Given the description of an element on the screen output the (x, y) to click on. 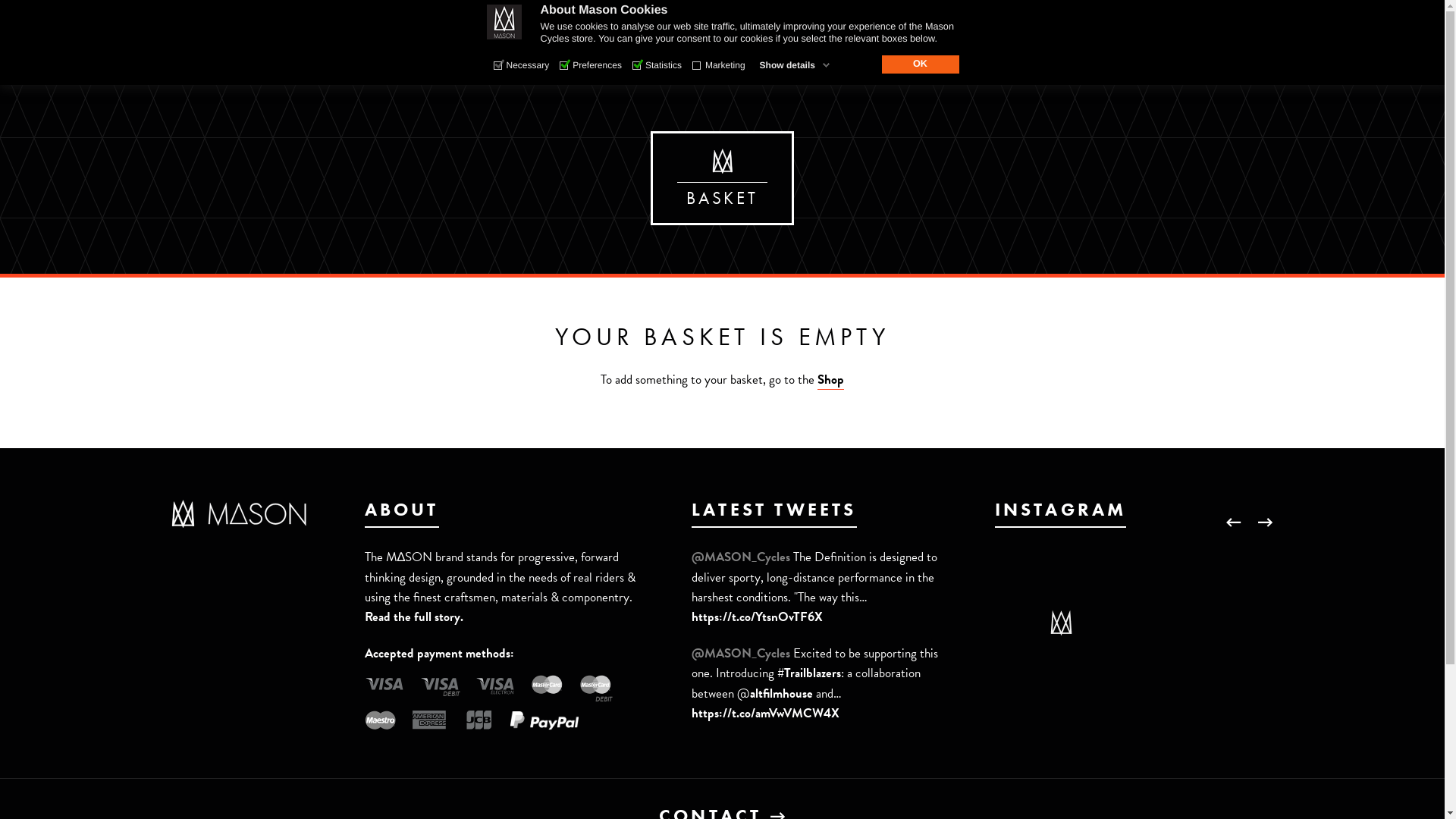
Shop Element type: text (830, 379)
@MASON_Cycles Element type: text (742, 556)
#Trailblazers Element type: text (808, 672)
ALL Element type: text (391, 65)
INSEARCHOF Element type: text (748, 65)
ALL Element type: text (583, 65)
https://t.co/YtsnOvTF6X Element type: text (756, 616)
CONTACT Element type: text (998, 55)
EXPOSURE Element type: text (1032, 65)
REVIEWS Element type: text (834, 55)
WARRANTY Element type: text (968, 14)
Read the full story. Element type: text (413, 616)
BLOG Element type: text (915, 55)
altfilmhouse Element type: text (780, 693)
ACCESSORIES Element type: text (723, 55)
BOKEH Element type: text (659, 65)
FAQS Element type: text (885, 14)
@MASON_Cycles Element type: text (742, 652)
SLR Element type: text (959, 65)
CLOTHING Element type: text (841, 65)
RESOLUTION Element type: text (470, 65)
DEFINITION Element type: text (573, 65)
ASPECT Element type: text (838, 65)
BASKET Element type: text (1088, 55)
BICYCLES & FRAMES Element type: text (574, 55)
THINKING Element type: text (439, 55)
OK Element type: text (919, 64)
ACCESSORIES + UPGRADES Element type: text (703, 65)
C2W SCHEME Element type: text (1072, 14)
STORY Element type: text (351, 55)
https://t.co/amVwVMCW4X Element type: text (765, 712)
Show details Element type: text (794, 65)
REGISTER Element type: text (1245, 14)
RAW Element type: text (904, 65)
LOGIN Element type: text (1163, 14)
